Given the description of an element on the screen output the (x, y) to click on. 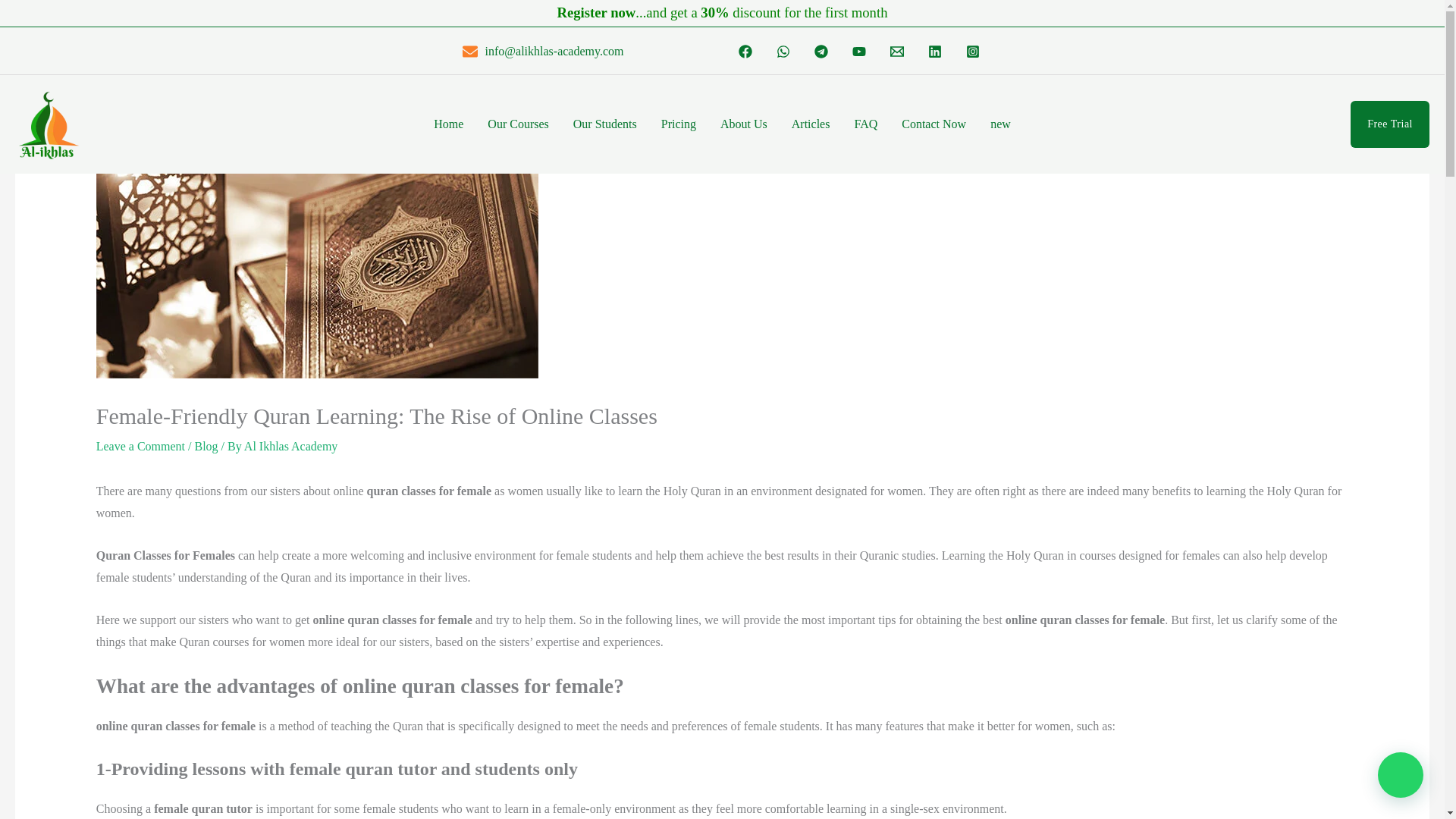
View all posts by Al Ikhlas Academy (290, 445)
Our Courses (518, 124)
Home (449, 124)
